Given the description of an element on the screen output the (x, y) to click on. 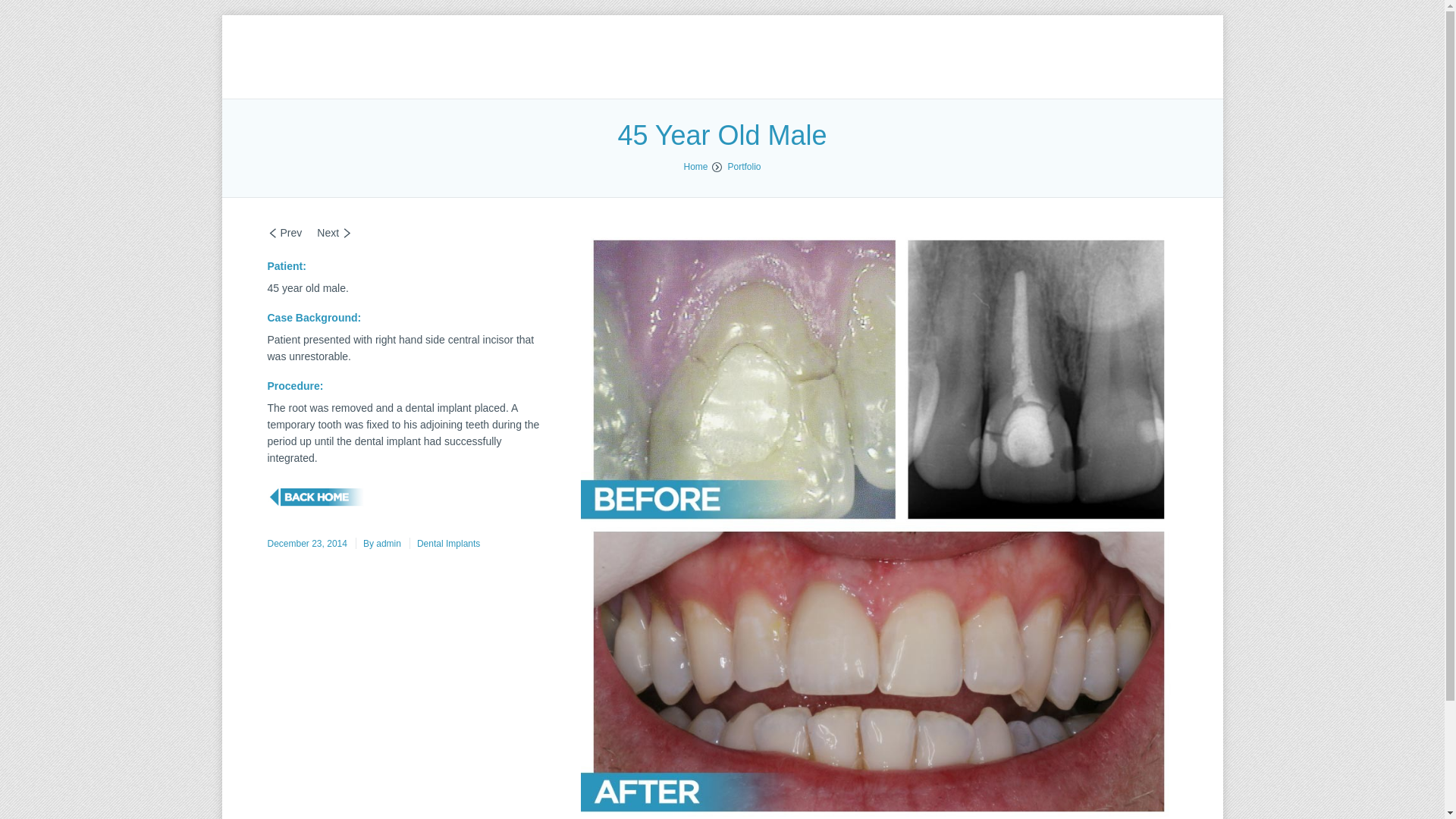
Home Element type: text (695, 166)
Dental Implants Element type: text (444, 543)
Portfolio Element type: text (743, 166)
Next Element type: text (333, 232)
December 23, 2014 Element type: text (306, 543)
By admin Element type: text (378, 543)
Prev Element type: text (283, 232)
